Given the description of an element on the screen output the (x, y) to click on. 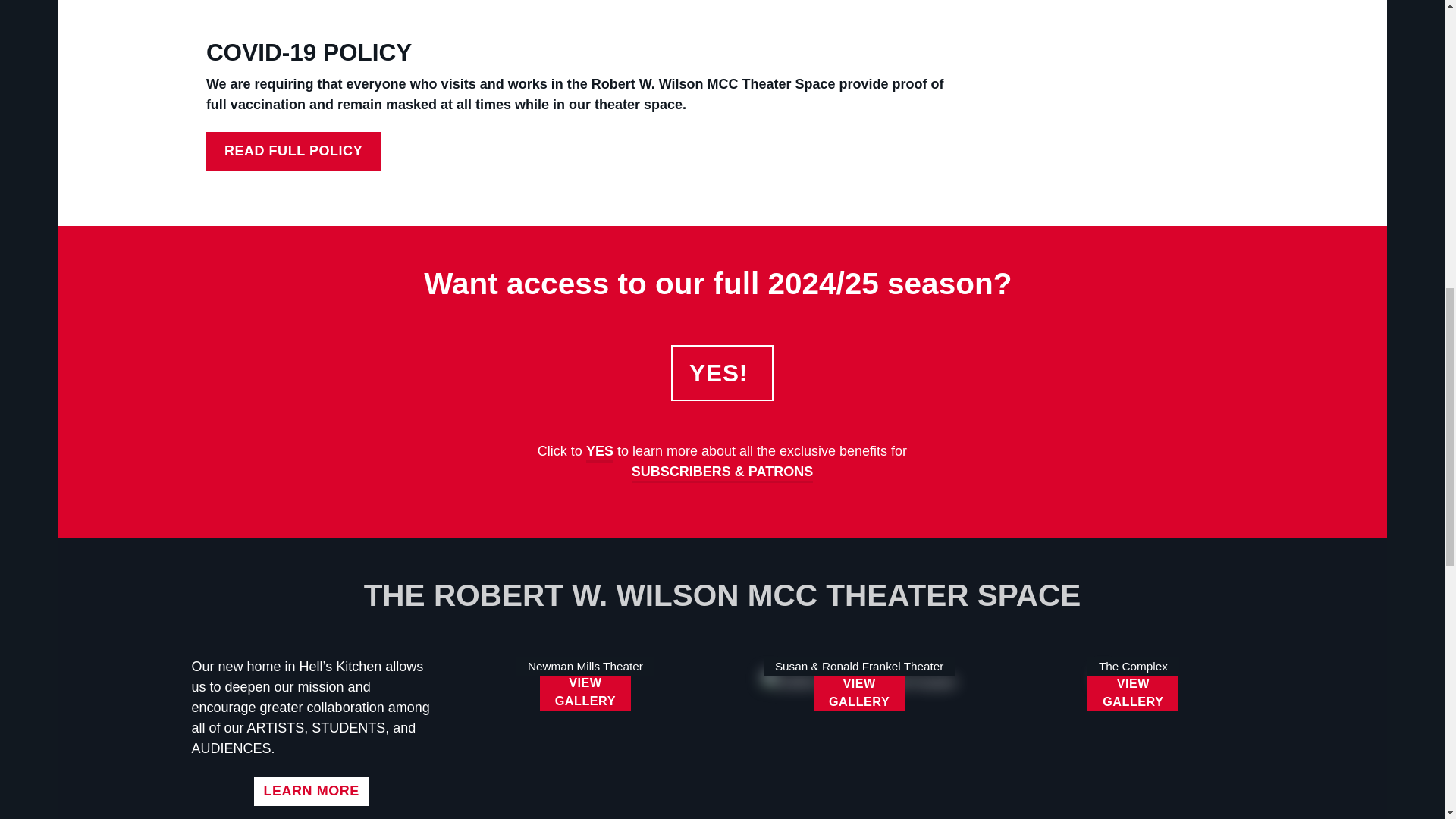
YES!  (722, 372)
YES (599, 451)
LEARN MORE (310, 790)
READ FULL POLICY (293, 150)
CARD-Susan-Ronald-Frankel (858, 682)
